Given the description of an element on the screen output the (x, y) to click on. 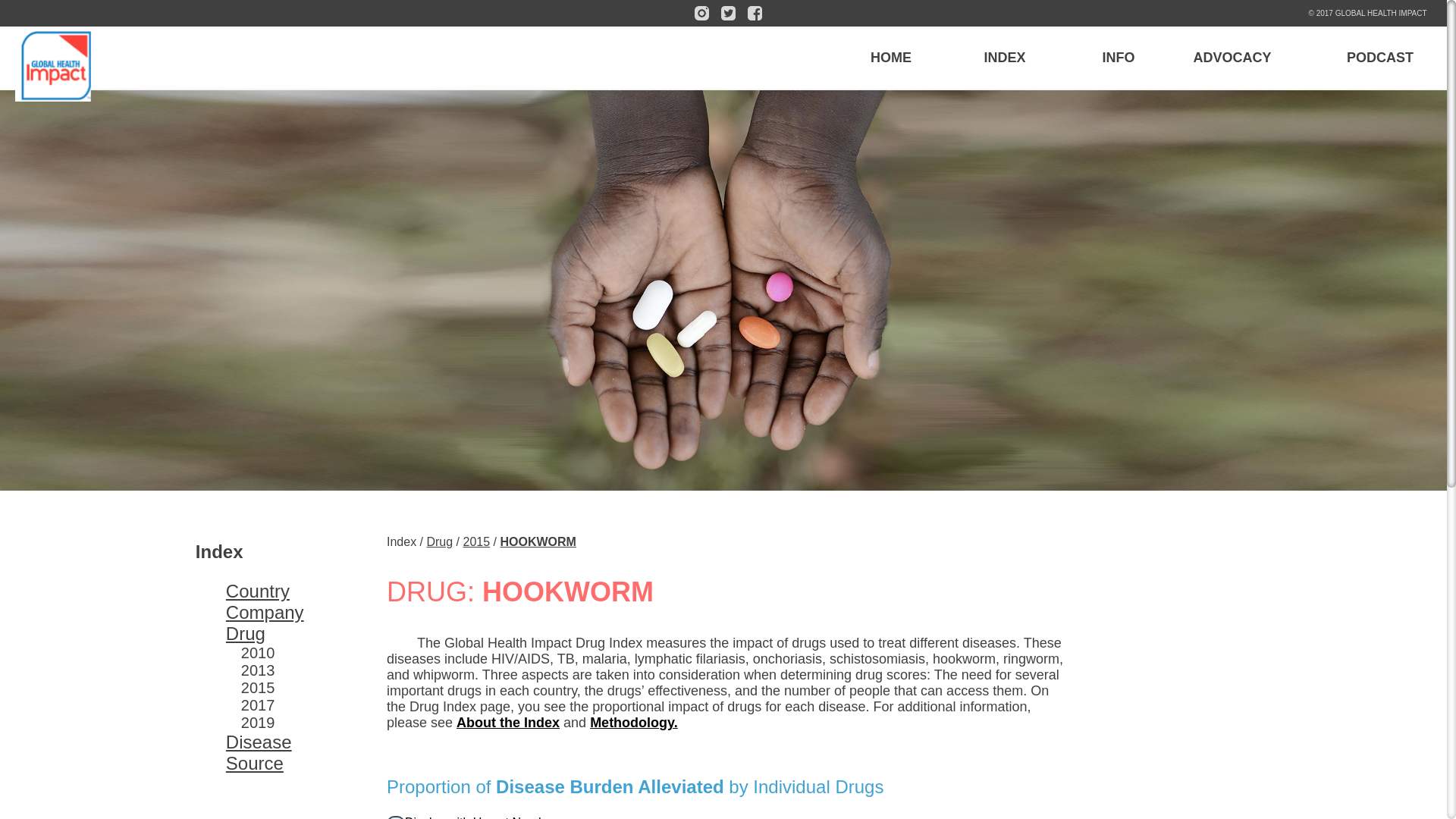
2013 (258, 669)
INFO (1118, 57)
2010 (258, 652)
Country (257, 590)
HOME (890, 57)
INDEX (1004, 57)
PODCAST (1380, 57)
ADVOCACY (1232, 57)
Drug (244, 633)
Company (264, 611)
